Given the description of an element on the screen output the (x, y) to click on. 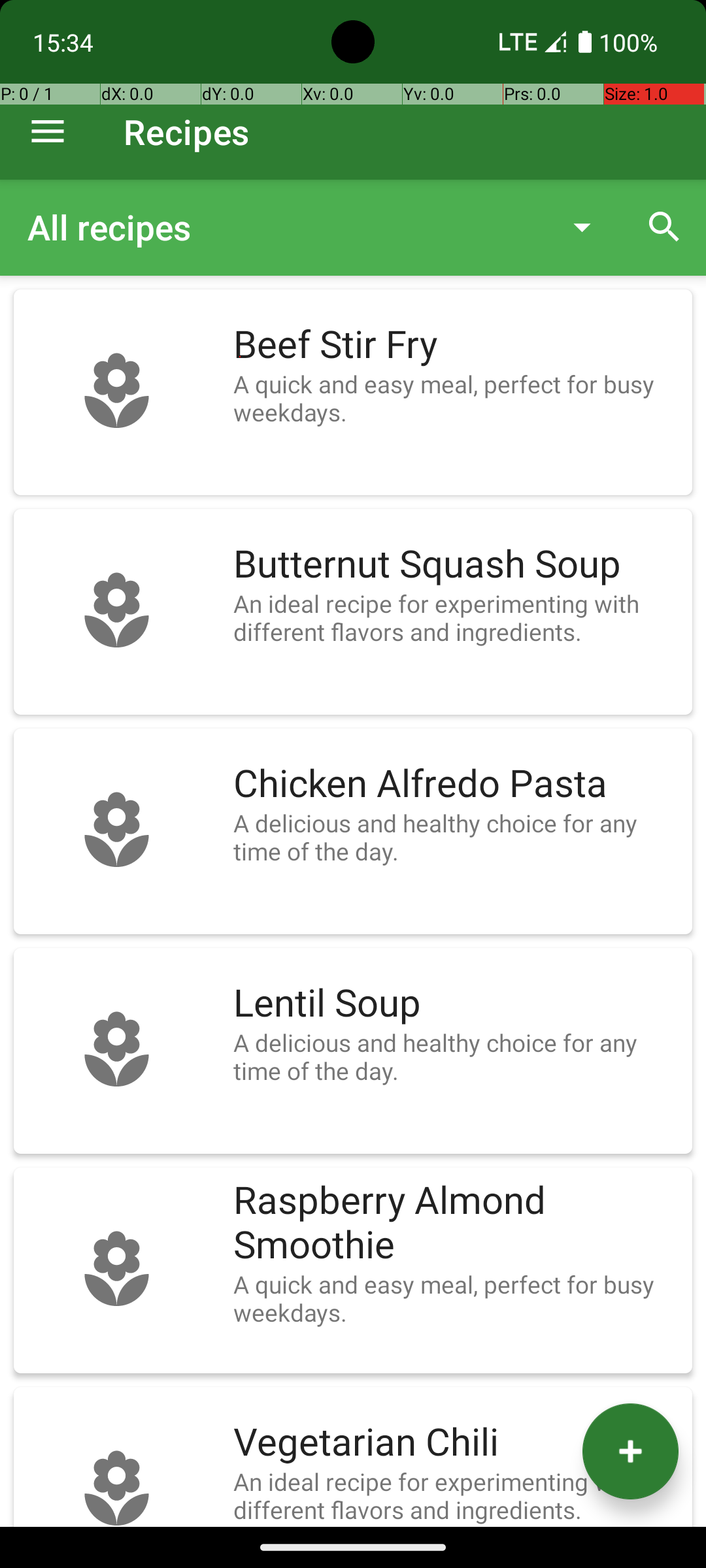
Raspberry Almond Smoothie Element type: android.widget.TextView (455, 1222)
Vegetarian Chili Element type: android.widget.TextView (455, 1442)
